Given the description of an element on the screen output the (x, y) to click on. 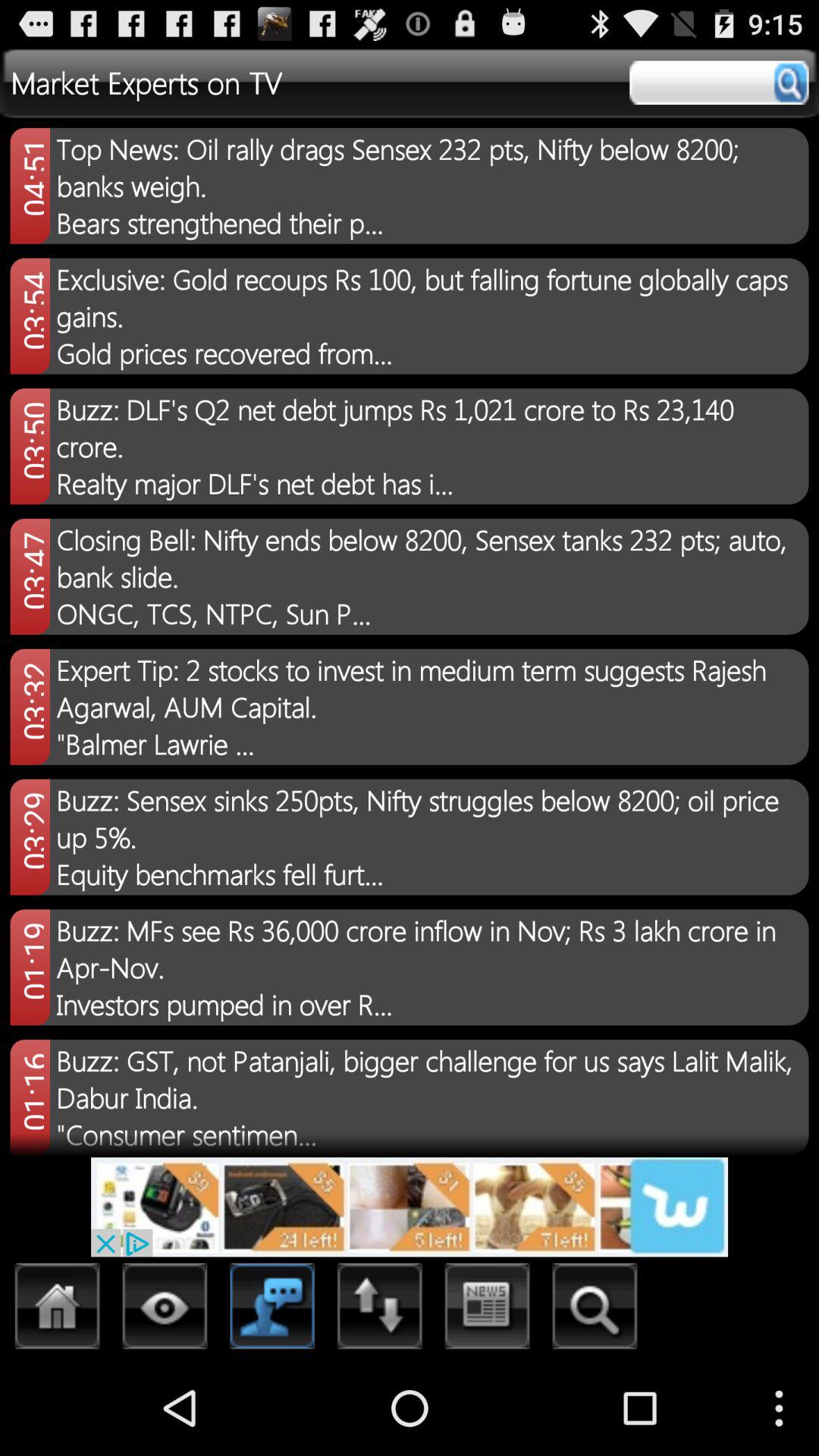
chat (272, 1310)
